Given the description of an element on the screen output the (x, y) to click on. 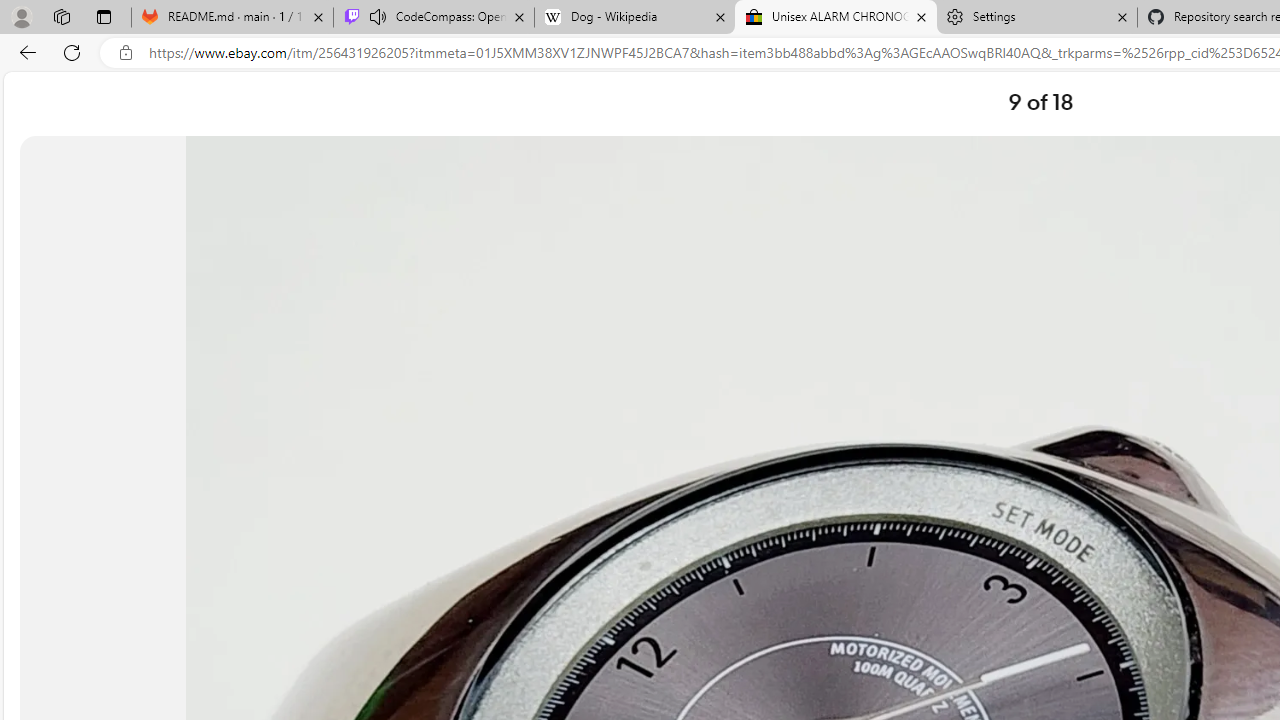
Refresh (72, 52)
View site information (125, 53)
Tab actions menu (104, 16)
Settings (1036, 17)
Close tab (1122, 16)
Mute tab (377, 16)
Dog - Wikipedia (634, 17)
Back (24, 52)
Workspaces (61, 16)
Personal Profile (21, 16)
